Given the description of an element on the screen output the (x, y) to click on. 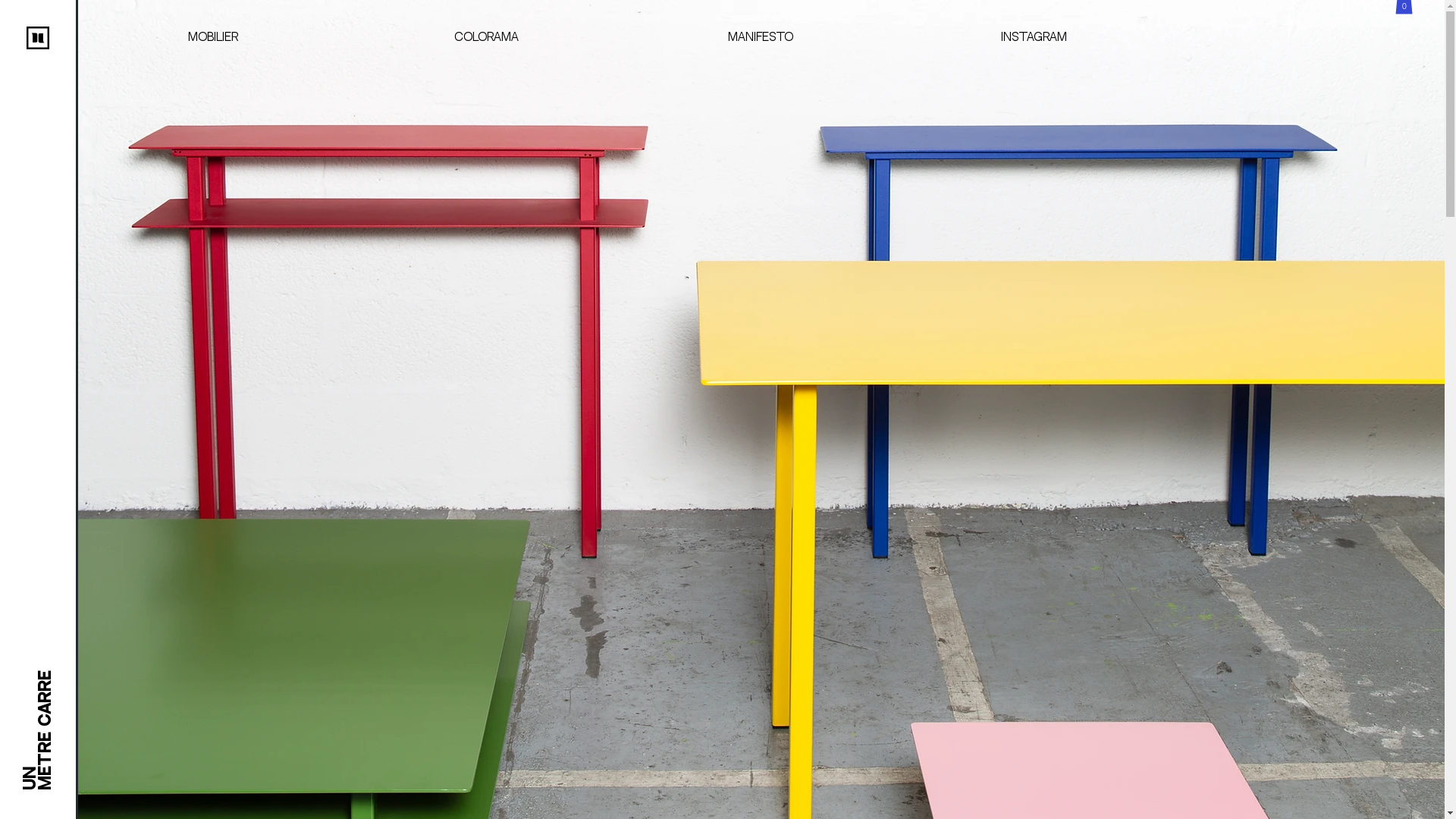
COLORAMA Element type: text (486, 37)
MOBILIER Element type: text (212, 37)
INSTAGRAM Element type: text (1033, 37)
MANIFESTO Element type: text (760, 37)
